Given the description of an element on the screen output the (x, y) to click on. 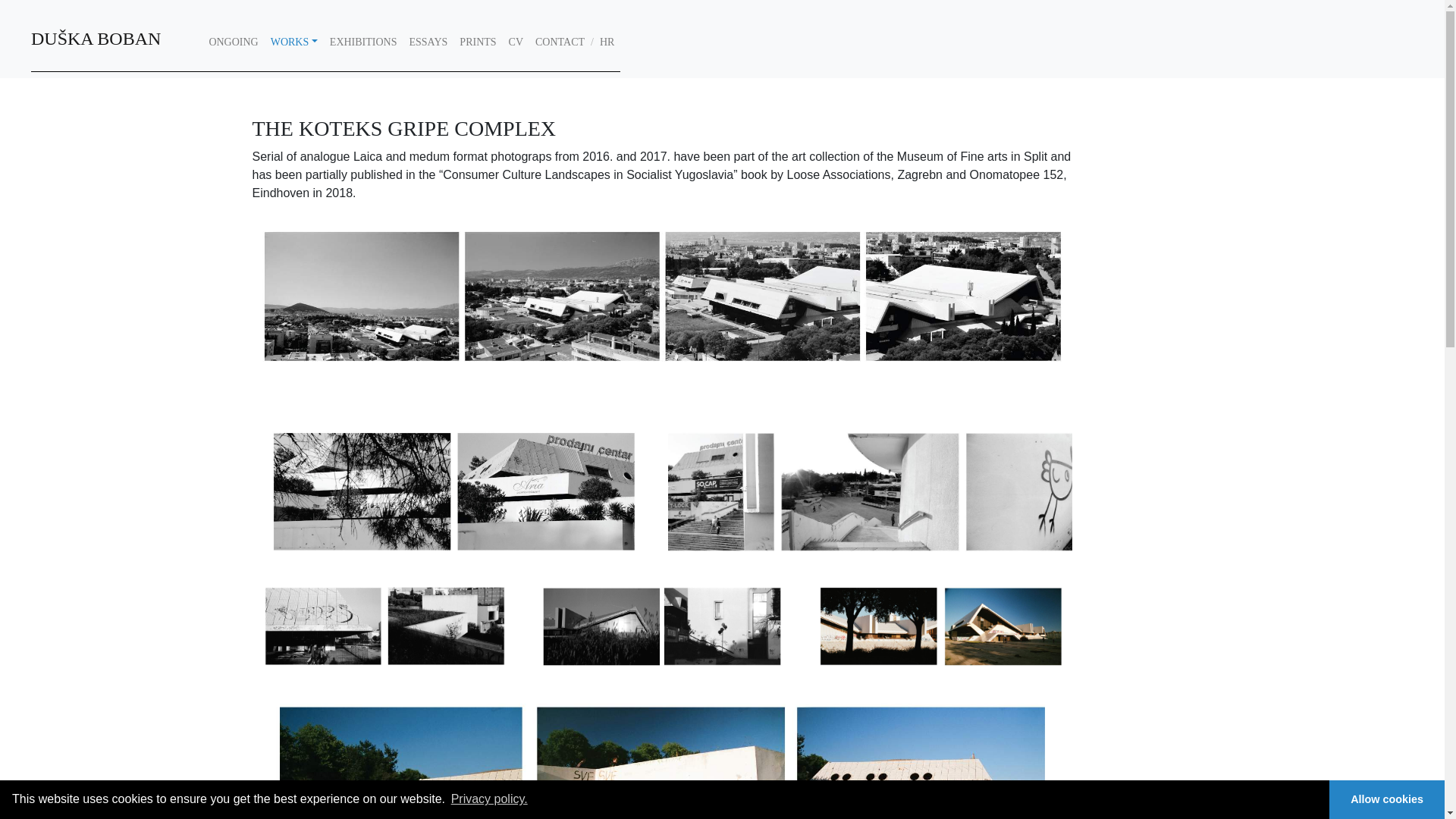
WORKS (293, 41)
PRINTS (477, 41)
HR (607, 41)
CONTACT (560, 41)
CV (515, 41)
ONGOING (232, 41)
EXHIBITIONS (363, 41)
Privacy policy. (488, 798)
ESSAYS (427, 41)
